Given the description of an element on the screen output the (x, y) to click on. 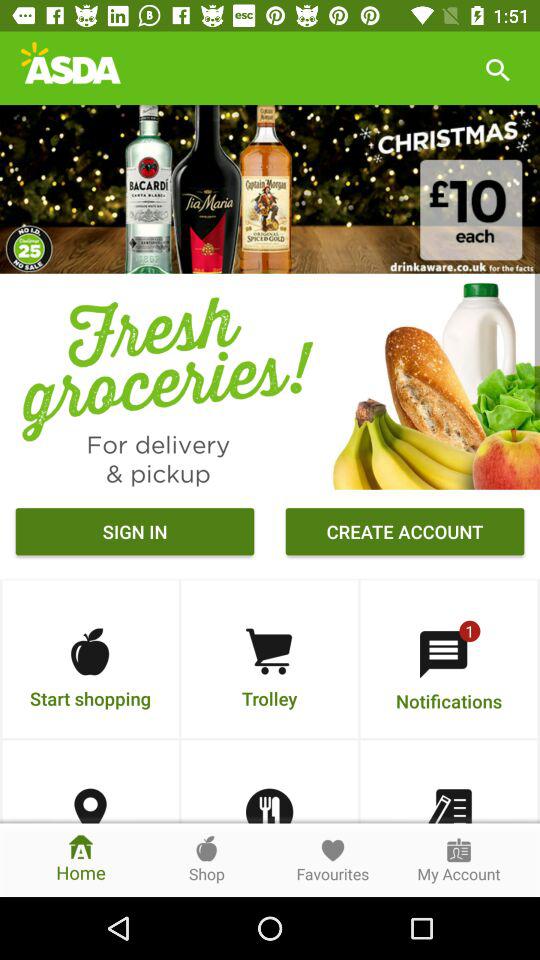
select item at the top right corner (497, 67)
